Given the description of an element on the screen output the (x, y) to click on. 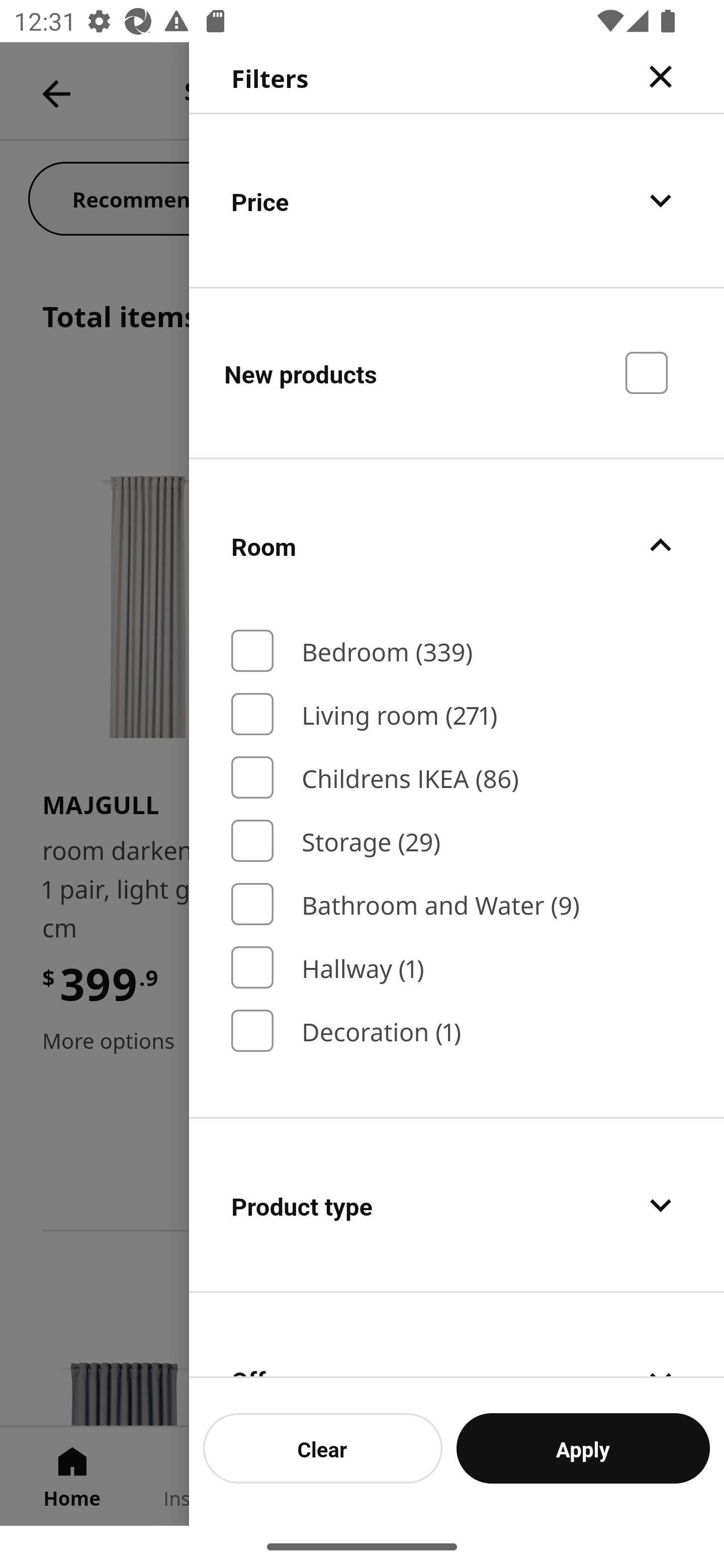
Price (456, 200)
New products (456, 371)
Room (456, 545)
Bedroom (339) (456, 651)
Living room (271) (456, 714)
Childrens IKEA (86) (456, 776)
Storage (29) (456, 841)
Bathroom and Water (9) (456, 903)
Hallway (1) (456, 967)
Decoration (1) (456, 1030)
Product type (456, 1204)
Clear (322, 1447)
Apply (583, 1447)
